Given the description of an element on the screen output the (x, y) to click on. 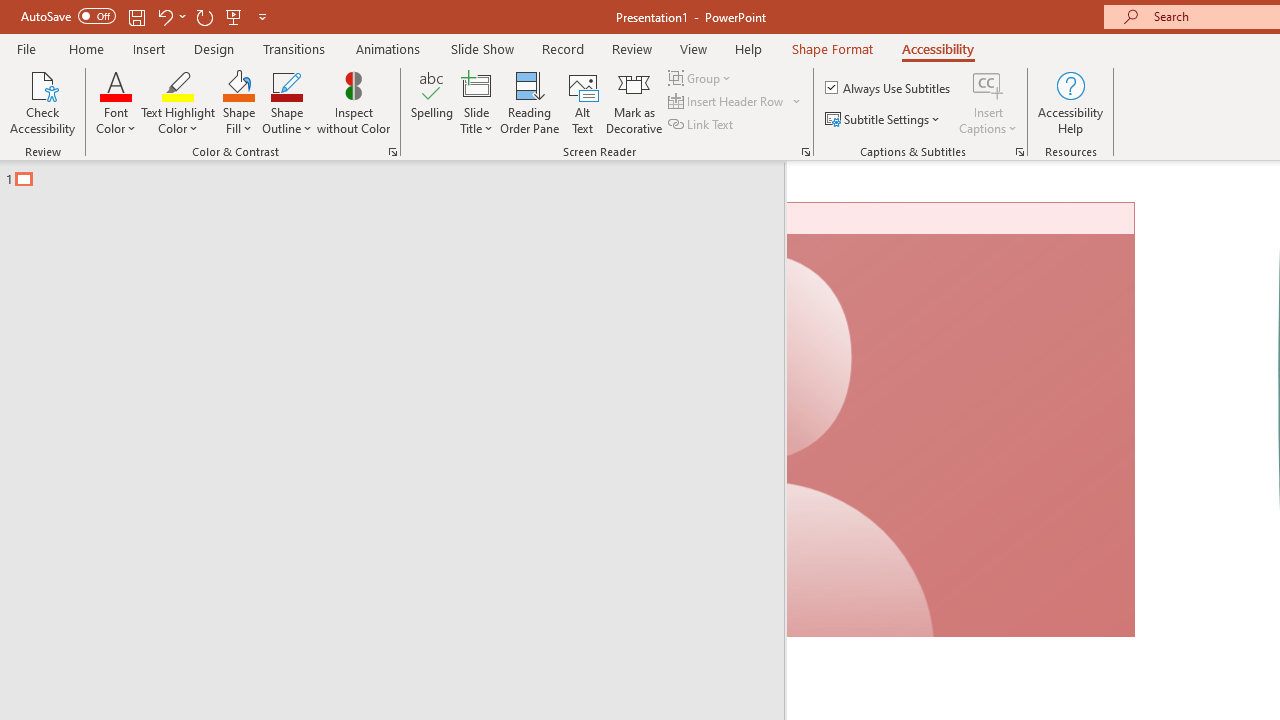
Link Text (702, 124)
Always Use Subtitles (889, 87)
Outline (401, 174)
Font Color Red (116, 84)
Shape Format (832, 48)
Reading Order Pane (529, 102)
